Given the description of an element on the screen output the (x, y) to click on. 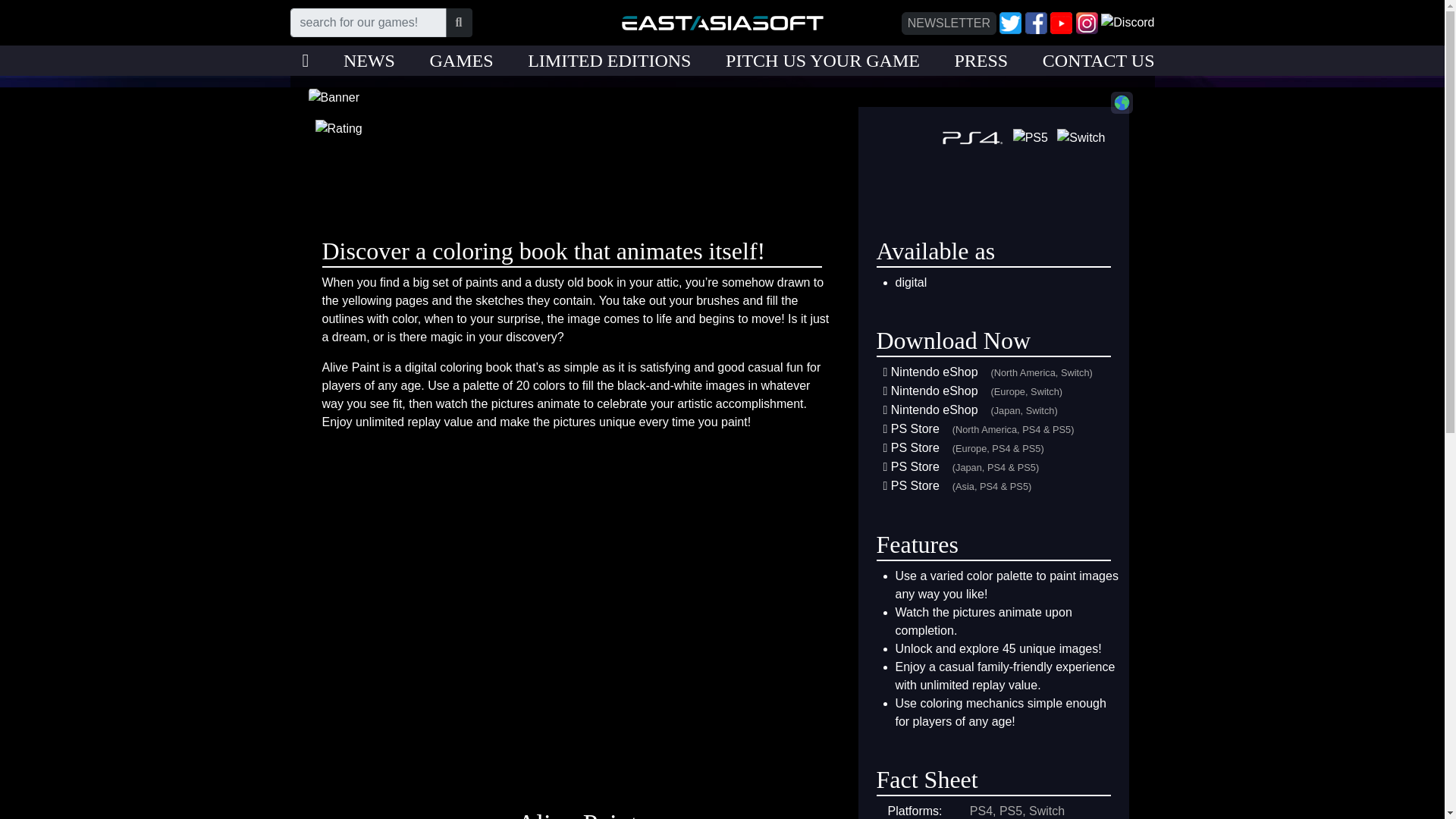
Nintendo eShop (934, 371)
PRESS (980, 60)
Nintendo eShop (934, 390)
CONTACT US (1098, 60)
GAMES (461, 60)
Nintendo eShop (934, 409)
PS Store (915, 428)
NEWS (368, 60)
LIMITED EDITIONS (608, 60)
NEWSLETTER (948, 23)
